Given the description of an element on the screen output the (x, y) to click on. 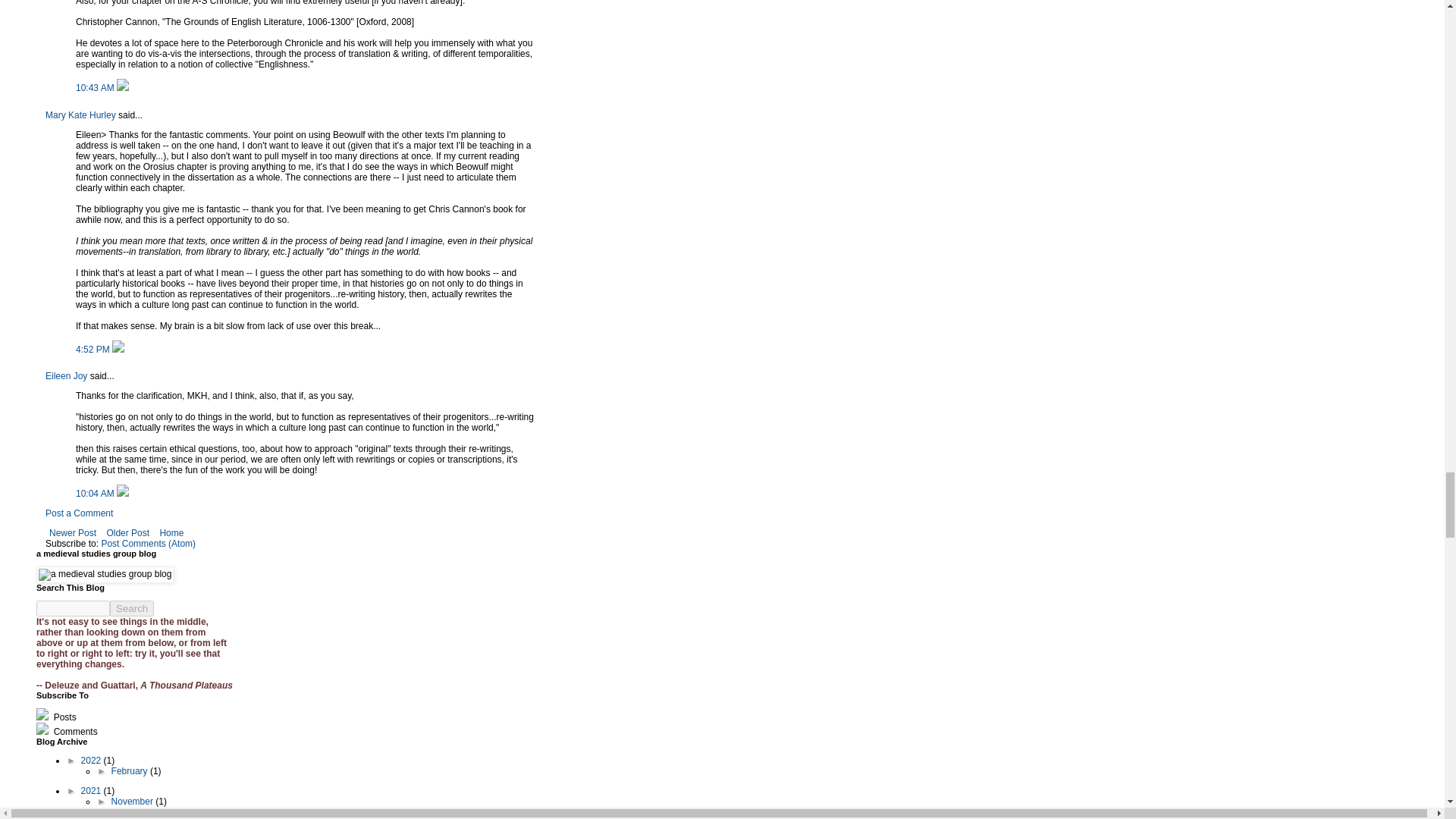
Search (132, 608)
Search (132, 608)
